Given the description of an element on the screen output the (x, y) to click on. 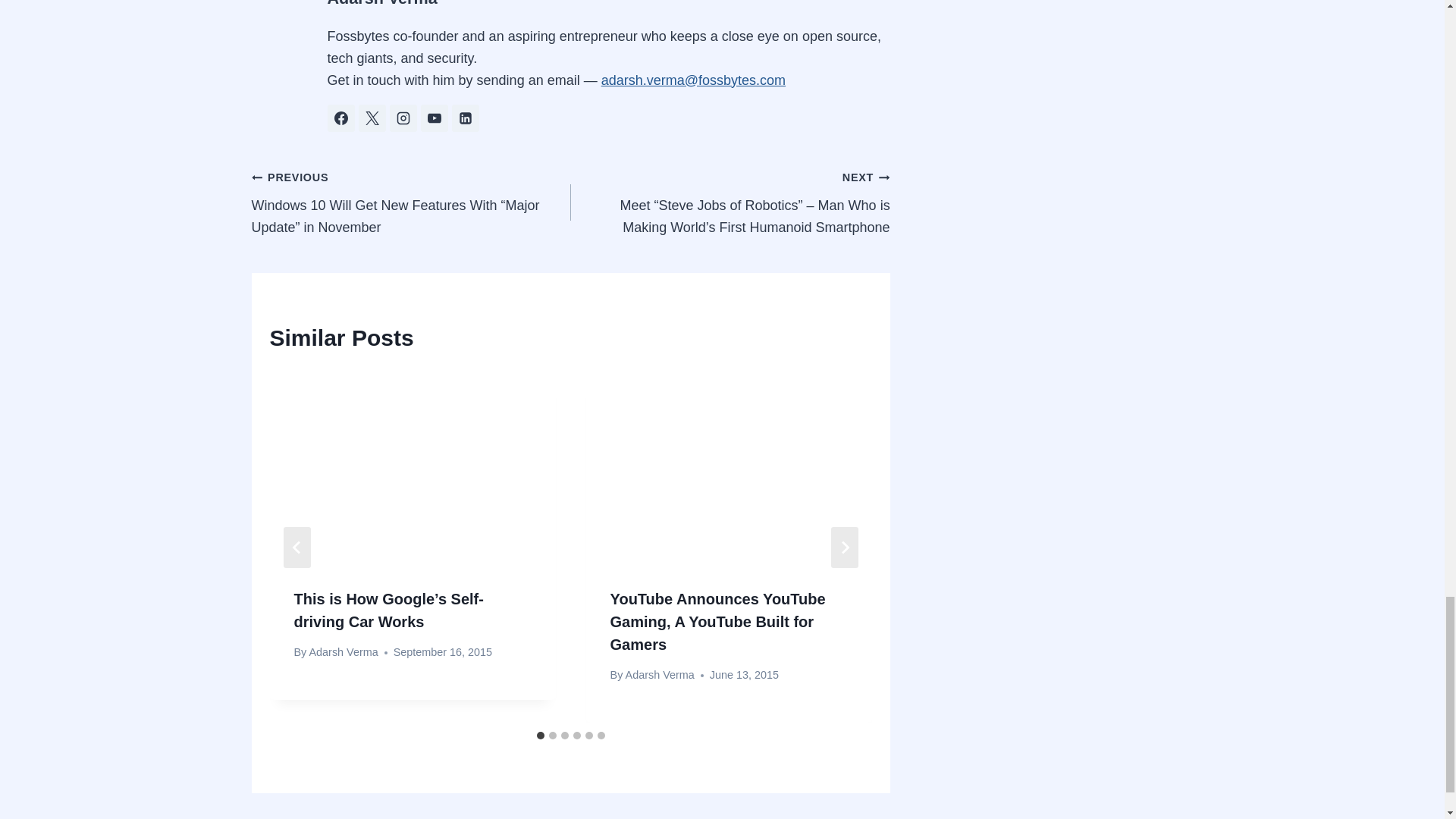
Posts by Adarsh Verma (382, 3)
Adarsh Verma (342, 652)
Follow Adarsh Verma on X formerly Twitter (371, 117)
Follow Adarsh Verma on Instagram (403, 117)
Follow Adarsh Verma on Youtube (434, 117)
Adarsh Verma (382, 3)
Follow Adarsh Verma on Facebook (341, 117)
Follow Adarsh Verma on Linkedin (465, 117)
